Given the description of an element on the screen output the (x, y) to click on. 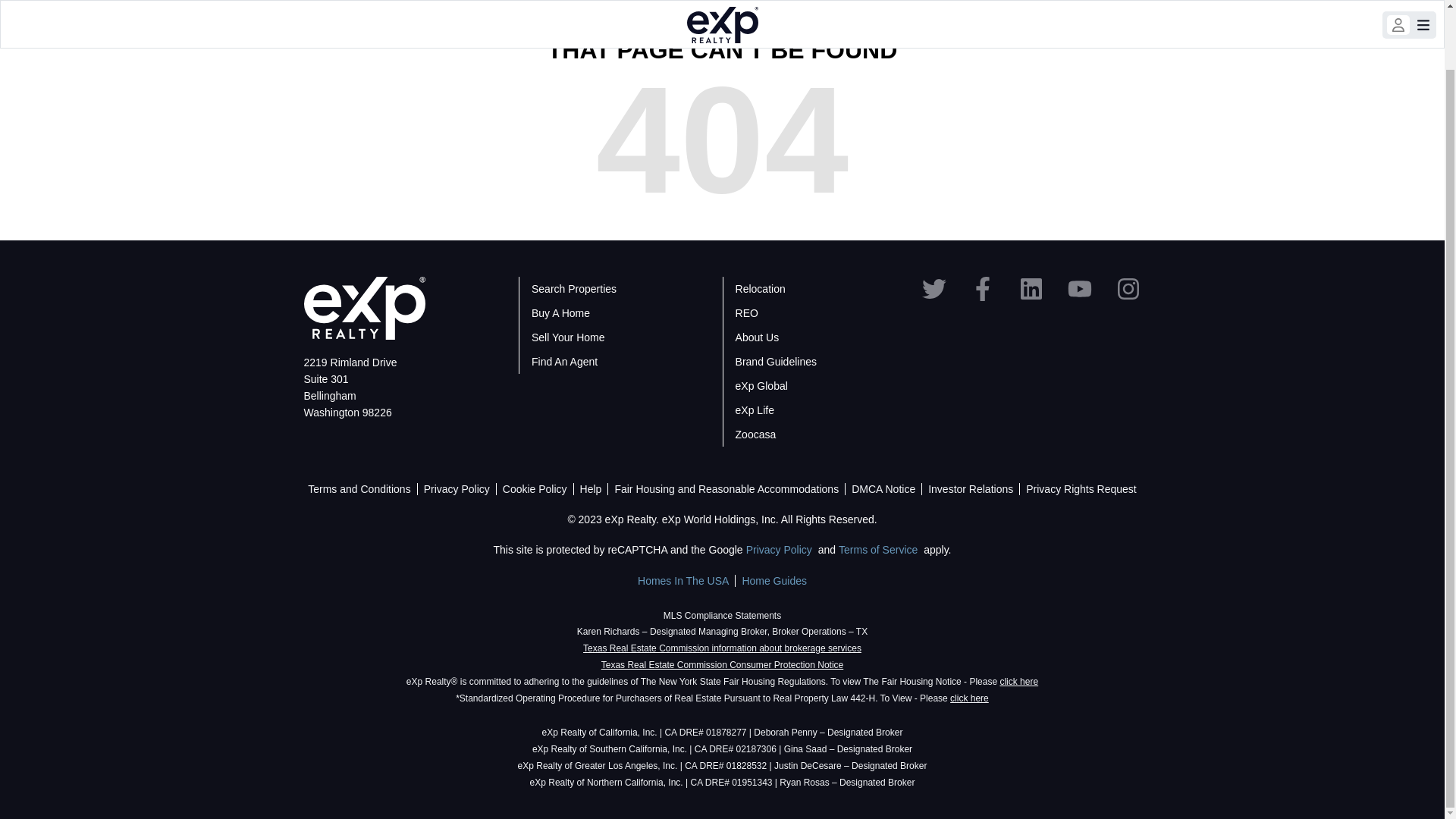
Buy A Home (560, 313)
Homes In The USA (683, 580)
Find An Agent (563, 361)
Terms and Conditions (358, 489)
REO (746, 313)
Texas Real Estate Commission Consumer Protection Notice (722, 665)
Investor Relations (970, 489)
Cookie Policy (534, 489)
Privacy Policy (778, 549)
eXp Life (754, 410)
